Given the description of an element on the screen output the (x, y) to click on. 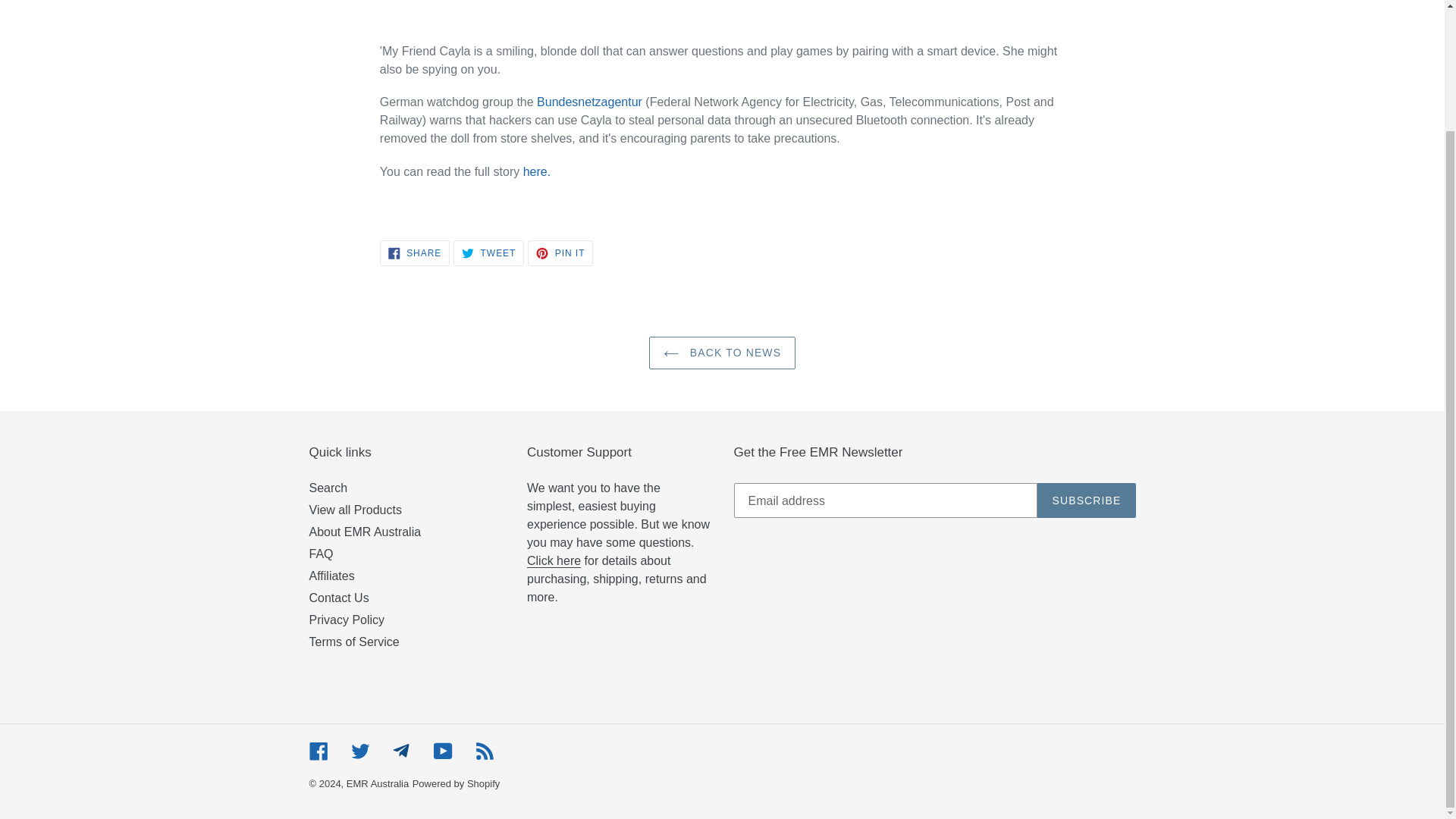
Customer Support (553, 561)
